Given the description of an element on the screen output the (x, y) to click on. 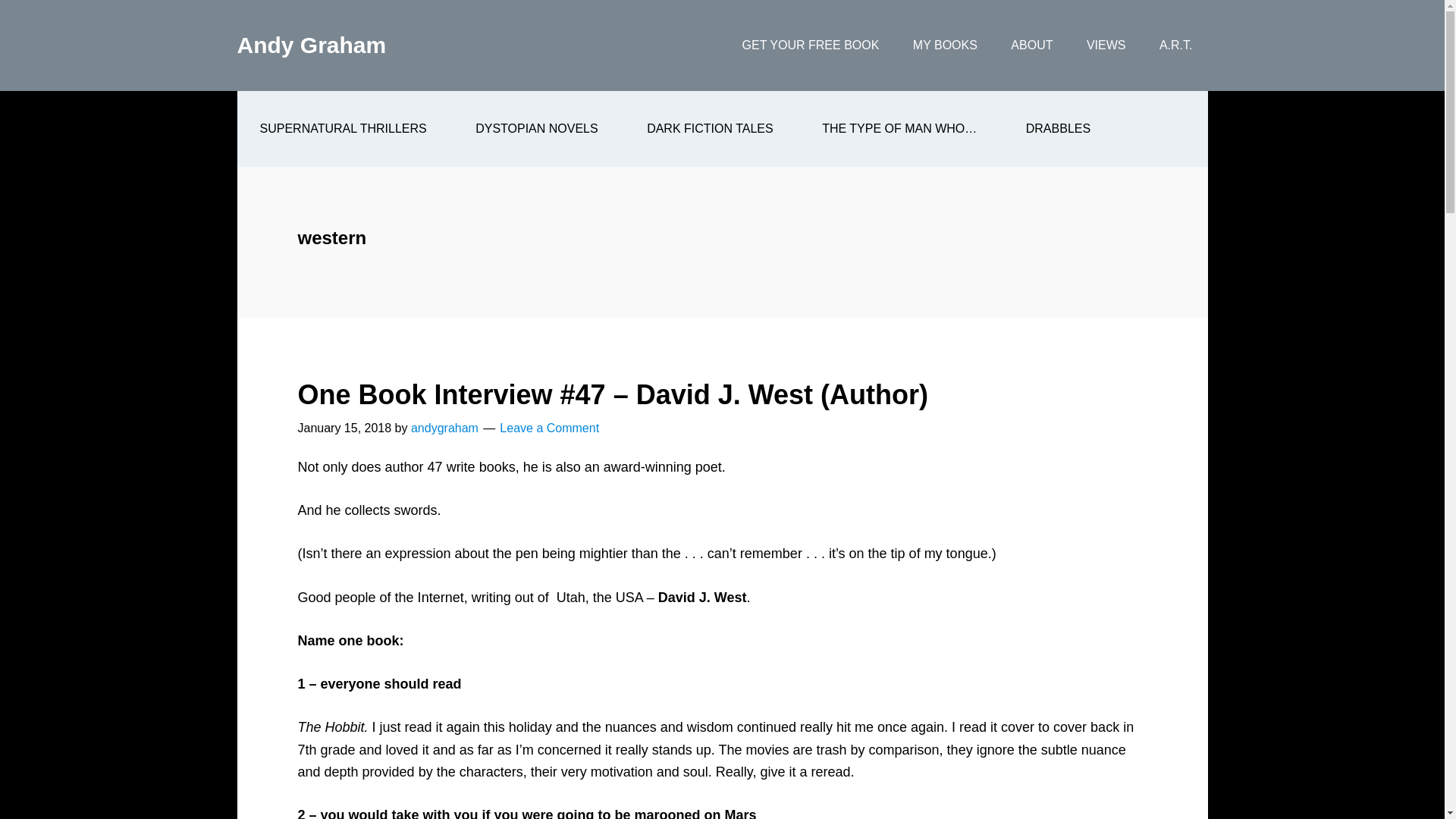
Andy Graham (310, 44)
MY BOOKS (945, 45)
DRABBLES (1058, 128)
GET YOUR FREE BOOK (810, 45)
andygraham (444, 427)
DARK FICTION TALES (710, 128)
DYSTOPIAN NOVELS (536, 128)
Leave a Comment (548, 427)
SUPERNATURAL THRILLERS (341, 128)
